Given the description of an element on the screen output the (x, y) to click on. 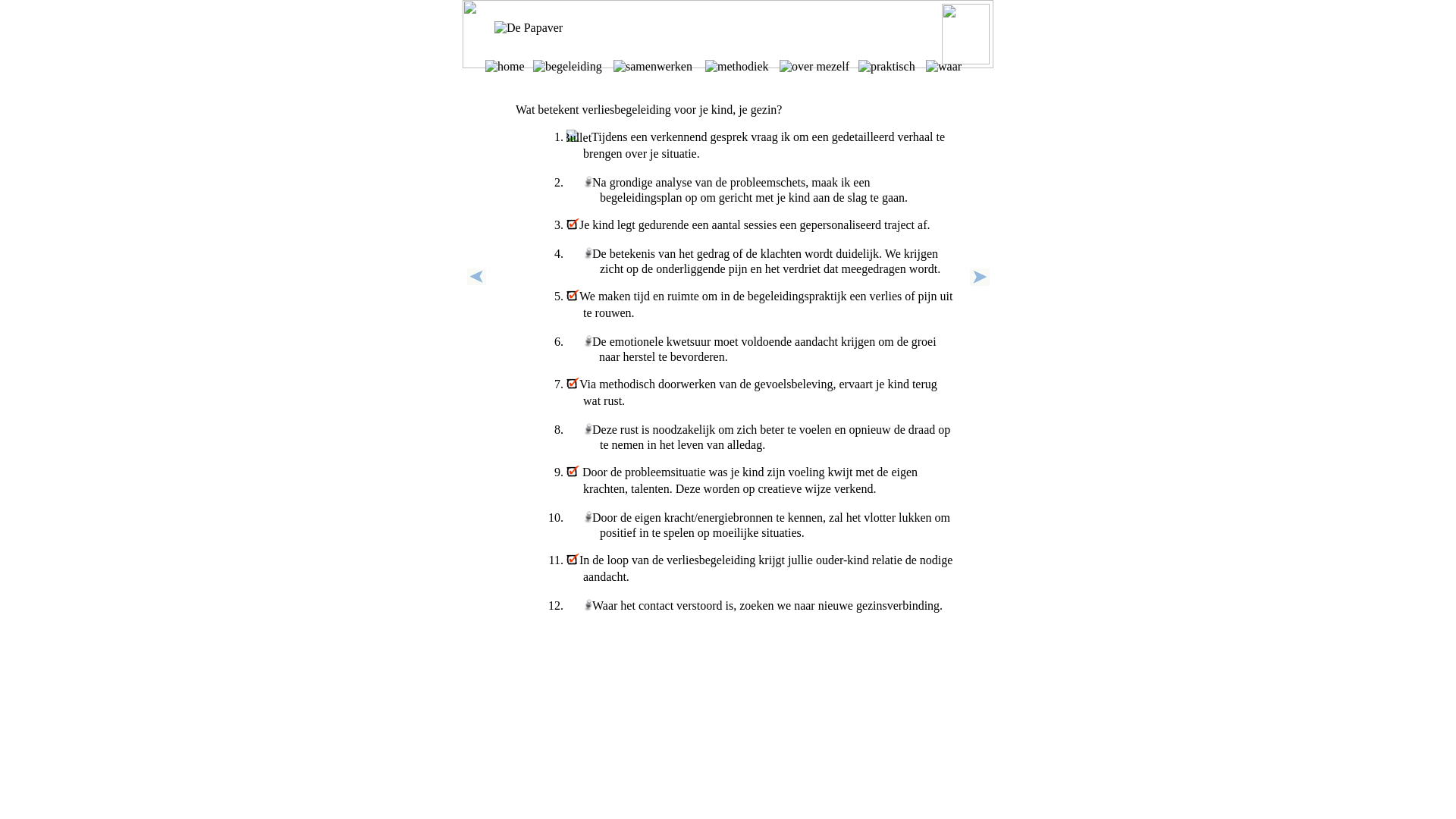
Wat_is_moeilijk_of_onrustwekkend_gedrag.html Element type: hover (476, 280)
Samen_werken_met_jou_als_ouder..html Element type: hover (979, 281)
